Given the description of an element on the screen output the (x, y) to click on. 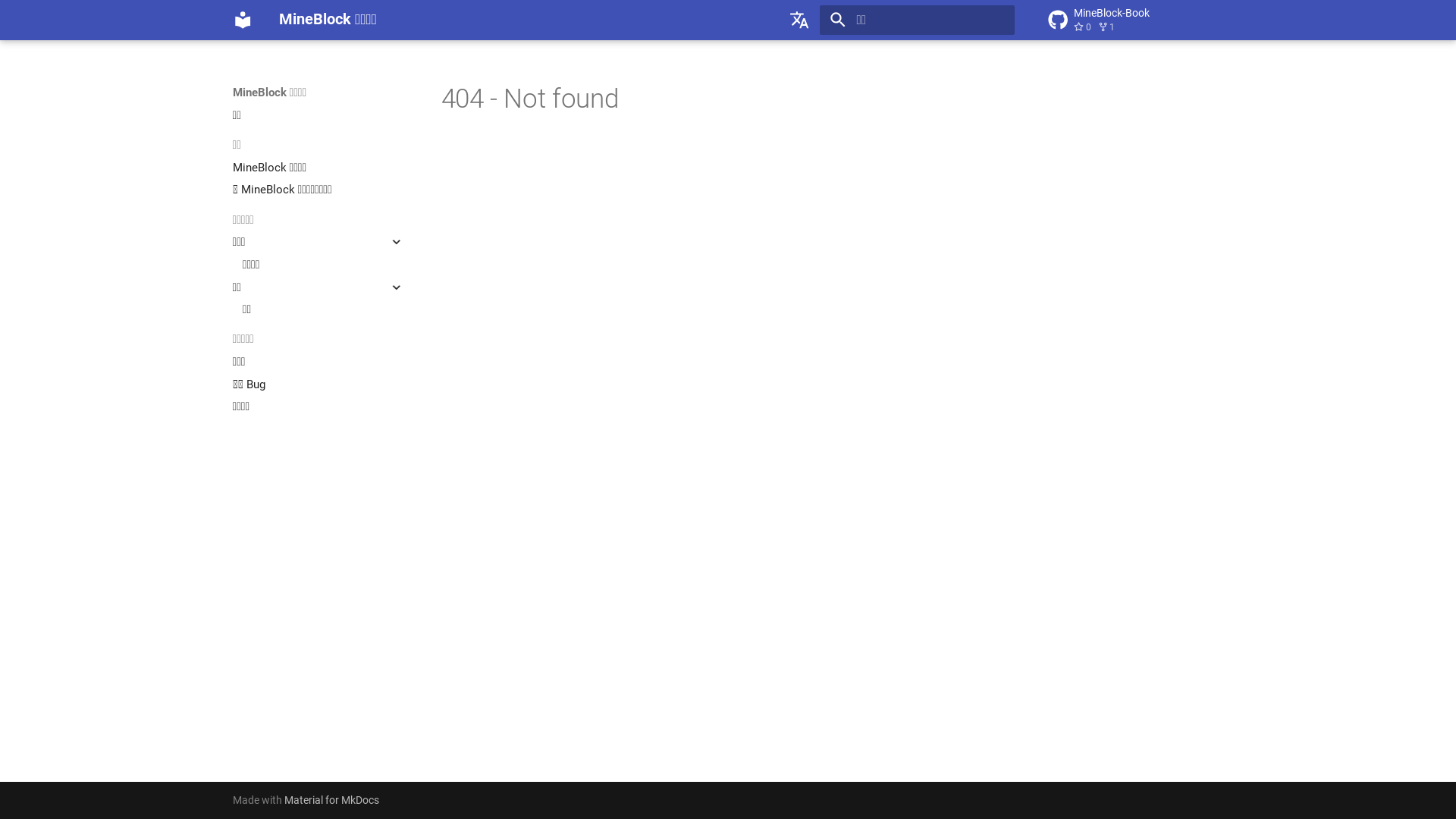
Material for MkDocs Element type: text (331, 799)
MineBlock-Book
0
1 Element type: text (1135, 20)
